Given the description of an element on the screen output the (x, y) to click on. 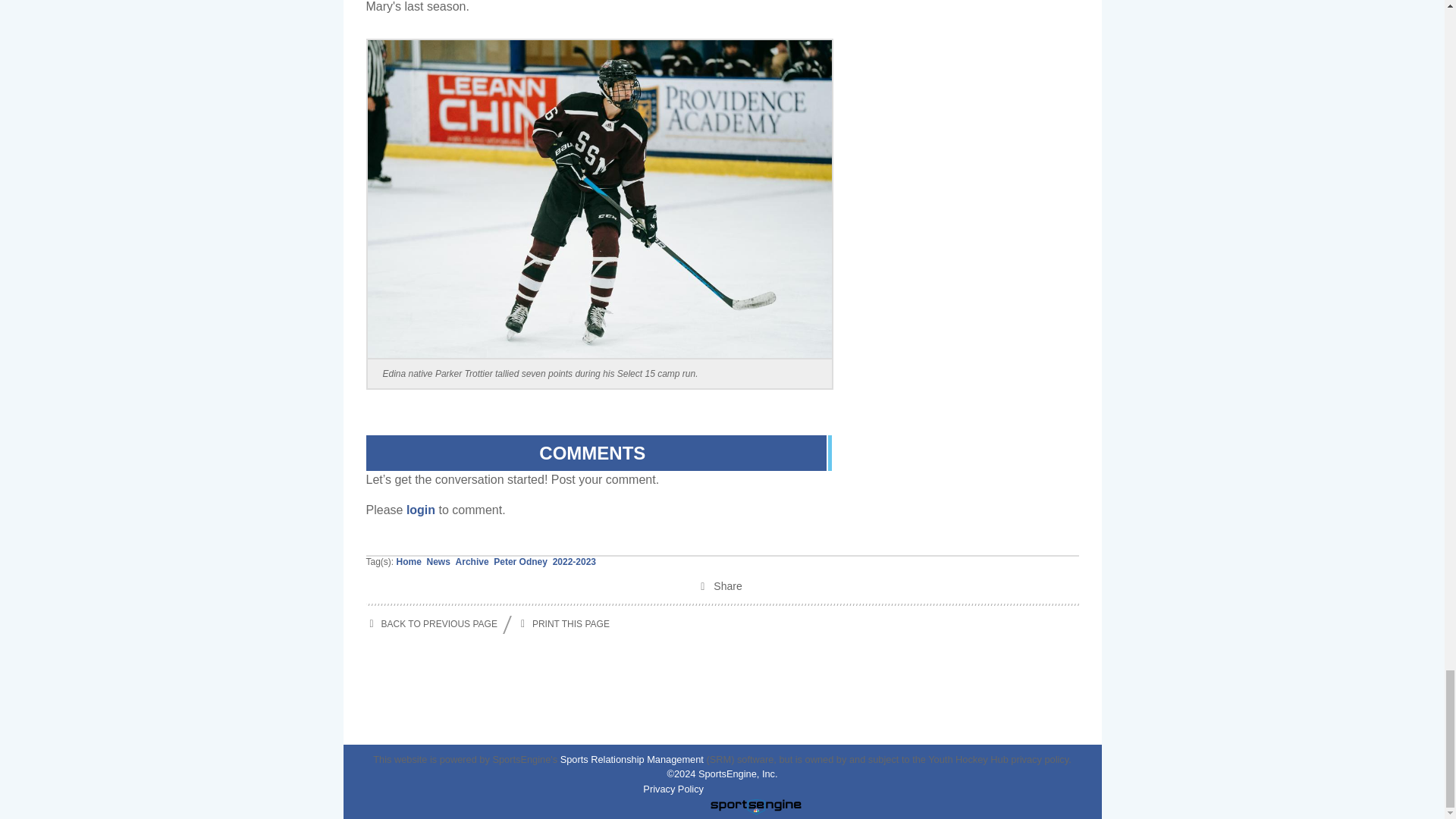
login (420, 509)
